Given the description of an element on the screen output the (x, y) to click on. 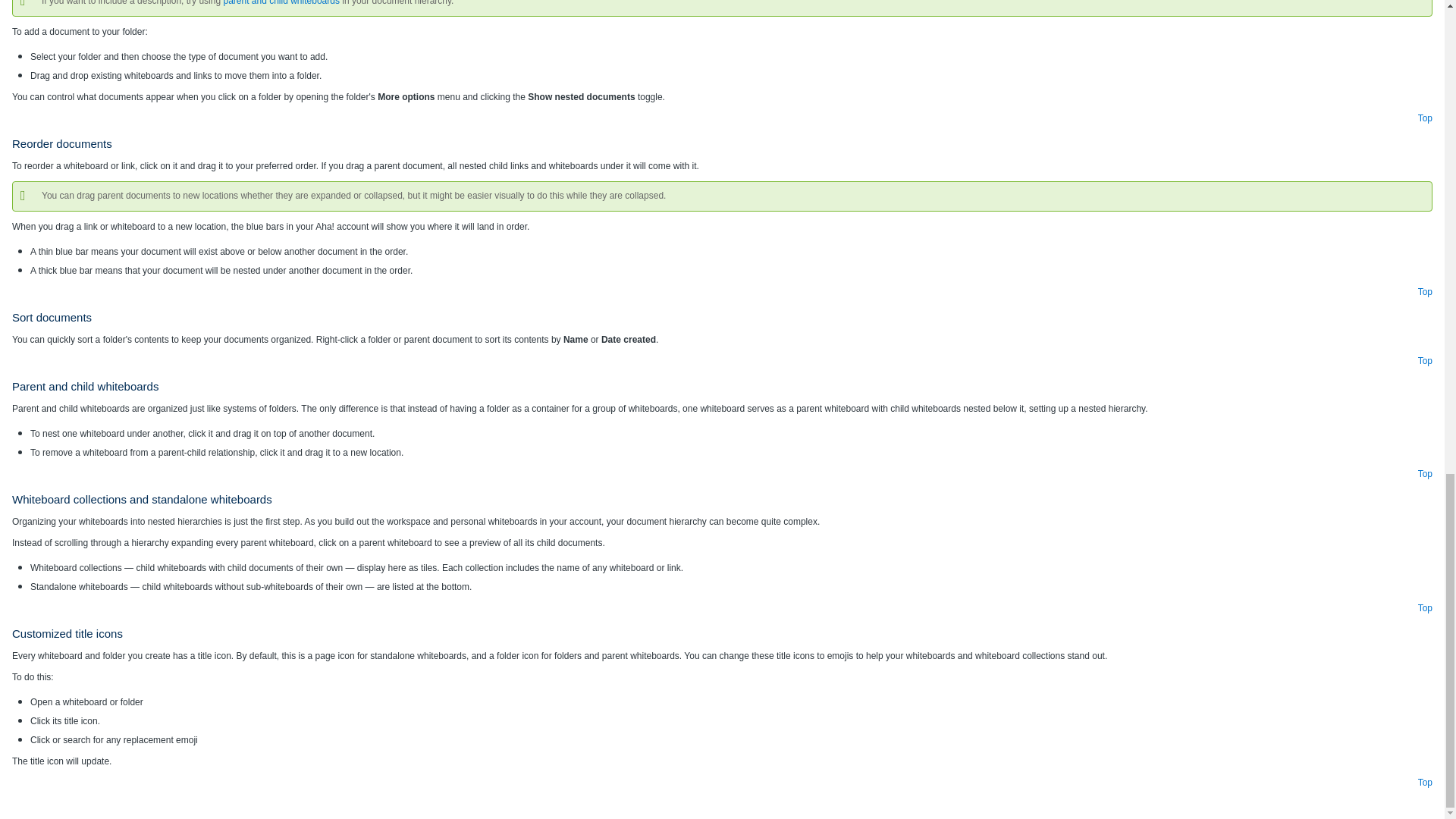
parent and child whiteboards (280, 2)
Top (1425, 291)
Top (1425, 360)
Top (1425, 782)
Top (1425, 607)
Top (1425, 473)
Top (1425, 118)
